Given the description of an element on the screen output the (x, y) to click on. 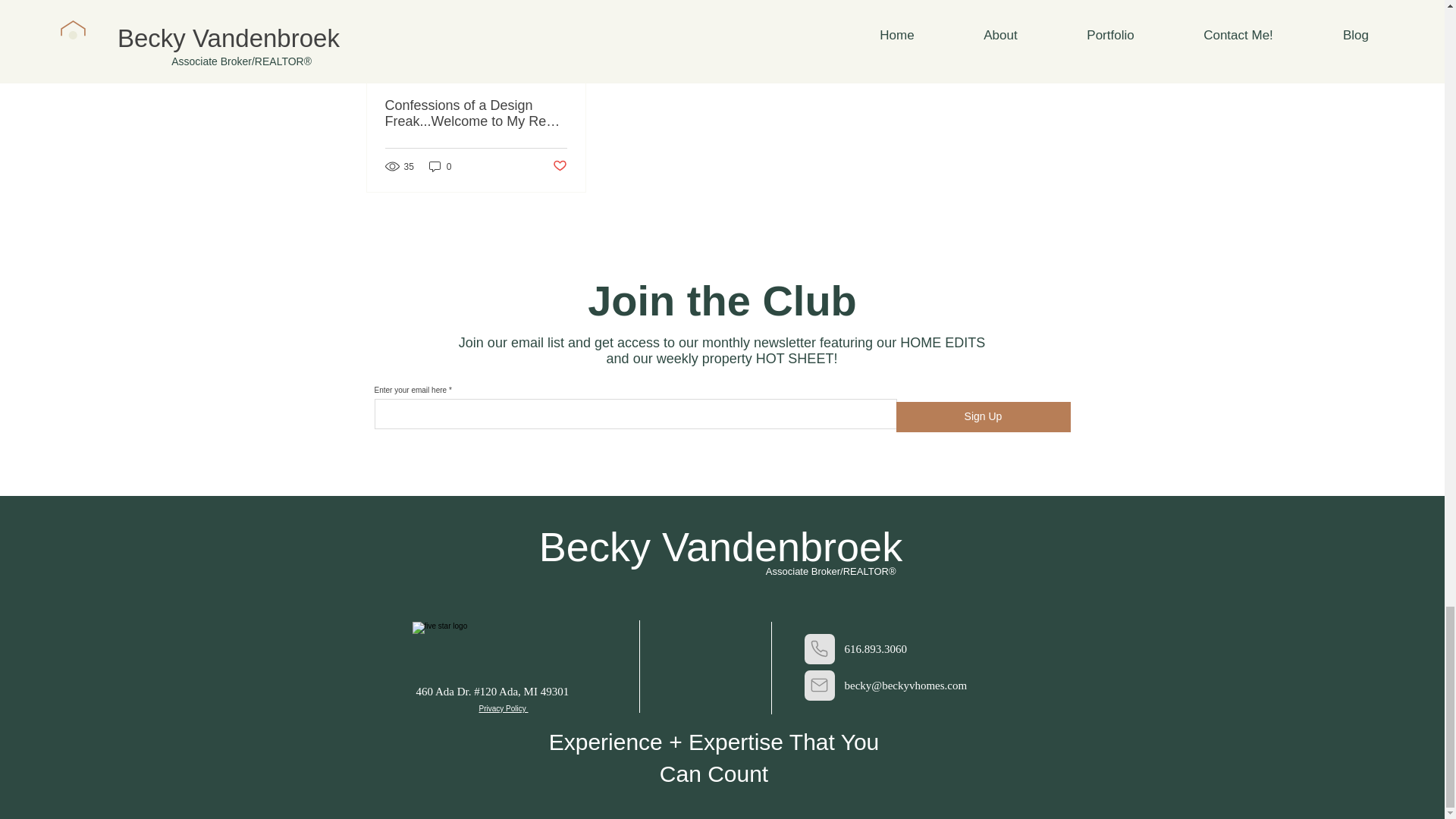
Privacy Policy  (503, 708)
Post not marked as liked (558, 166)
Sign Up (983, 416)
0 (440, 165)
